Given the description of an element on the screen output the (x, y) to click on. 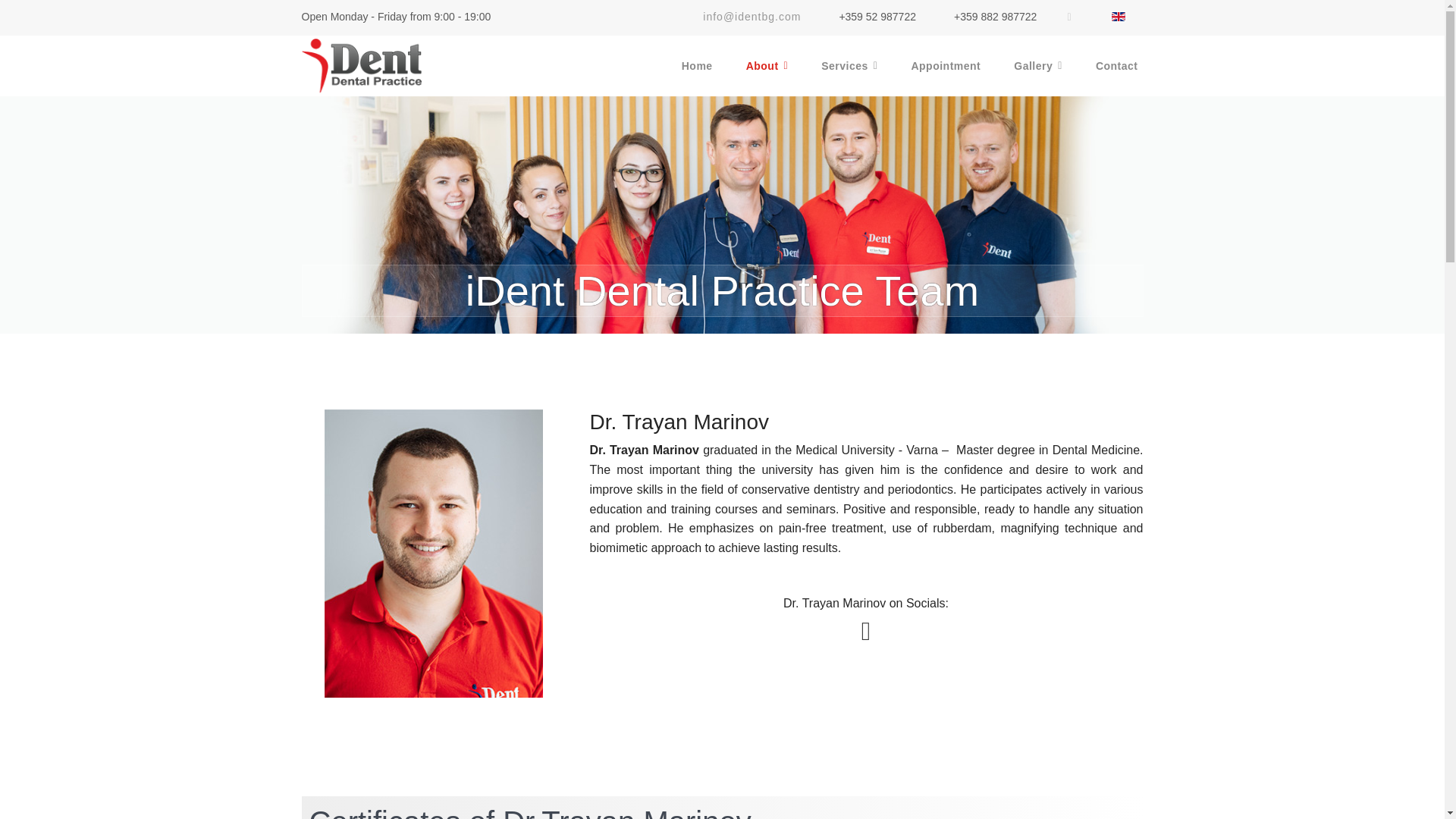
Appointment (945, 66)
Services (849, 66)
English (1117, 16)
